Given the description of an element on the screen output the (x, y) to click on. 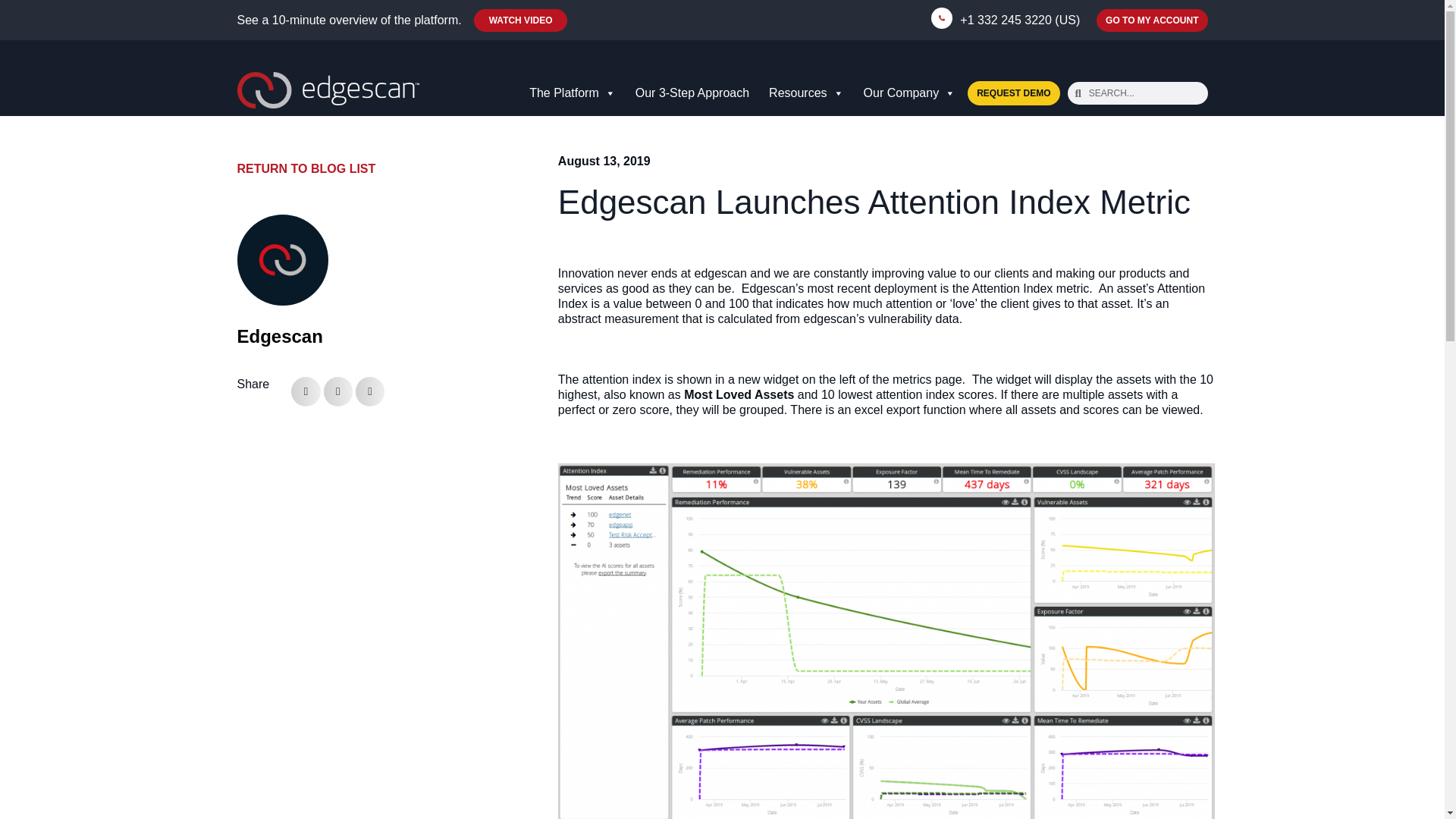
The Platform (574, 92)
REQUEST DEMO (1013, 93)
GO TO MY ACCOUNT (1151, 20)
Resources (808, 92)
Our 3-Step Approach (694, 92)
WATCH VIDEO (520, 20)
Our Company (912, 92)
